Given the description of an element on the screen output the (x, y) to click on. 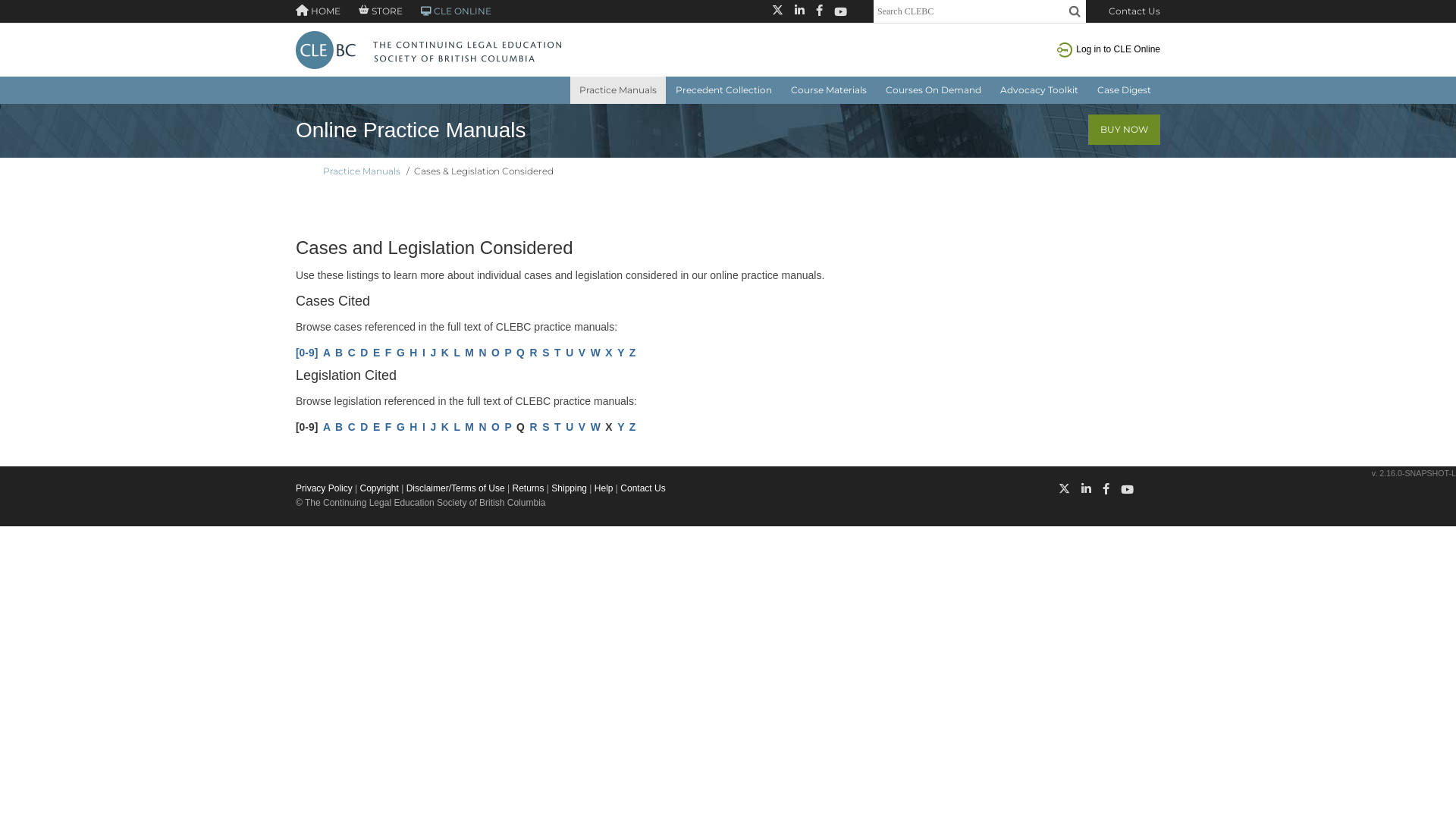
R Element type: text (533, 426)
J Element type: text (432, 426)
M Element type: text (468, 352)
V Element type: text (581, 426)
C Element type: text (351, 426)
Log in to CLE Online Element type: text (1108, 48)
G Element type: text (400, 352)
P Element type: text (507, 426)
O Element type: text (495, 426)
M Element type: text (468, 426)
Case Digest Element type: text (1124, 89)
Y Element type: text (620, 352)
N Element type: text (482, 352)
[0-9] Element type: text (306, 352)
B Element type: text (338, 426)
Practice Manuals Element type: text (617, 89)
J Element type: text (432, 352)
Y Element type: text (620, 426)
Practice Manuals Element type: text (361, 170)
Precedent Collection Element type: text (723, 89)
H Element type: text (413, 352)
C Element type: text (351, 352)
T Element type: text (557, 352)
S Element type: text (545, 426)
Z Element type: text (632, 426)
CLE ONLINE Element type: text (448, 10)
N Element type: text (482, 426)
L Element type: text (456, 352)
G Element type: text (400, 426)
Courses On Demand Element type: text (933, 89)
U Element type: text (569, 426)
Shipping Element type: text (568, 488)
D Element type: text (363, 426)
Course Materials Element type: text (828, 89)
Contact Us Element type: text (642, 488)
Contact Us Element type: text (1134, 10)
F Element type: text (388, 352)
O Element type: text (495, 352)
V Element type: text (581, 352)
Disclaimer/Terms of Use Element type: text (455, 488)
W Element type: text (595, 352)
HOME Element type: text (317, 10)
Help Element type: text (603, 488)
U Element type: text (569, 352)
A Element type: text (326, 352)
P Element type: text (507, 352)
STORE Element type: text (372, 10)
B Element type: text (338, 352)
H Element type: text (413, 426)
K Element type: text (444, 426)
A Element type: text (326, 426)
Z Element type: text (632, 352)
Copyright Element type: text (378, 488)
L Element type: text (456, 426)
S Element type: text (545, 352)
R Element type: text (533, 352)
F Element type: text (388, 426)
E Element type: text (376, 352)
K Element type: text (444, 352)
I Element type: text (423, 352)
E Element type: text (376, 426)
Returns Element type: text (527, 488)
T Element type: text (557, 426)
Privacy Policy Element type: text (323, 488)
W Element type: text (595, 426)
I Element type: text (423, 426)
Q Element type: text (520, 352)
X Element type: text (608, 352)
D Element type: text (363, 352)
Advocacy Toolkit Element type: text (1039, 89)
BUY NOW Element type: text (1124, 129)
